Given the description of an element on the screen output the (x, y) to click on. 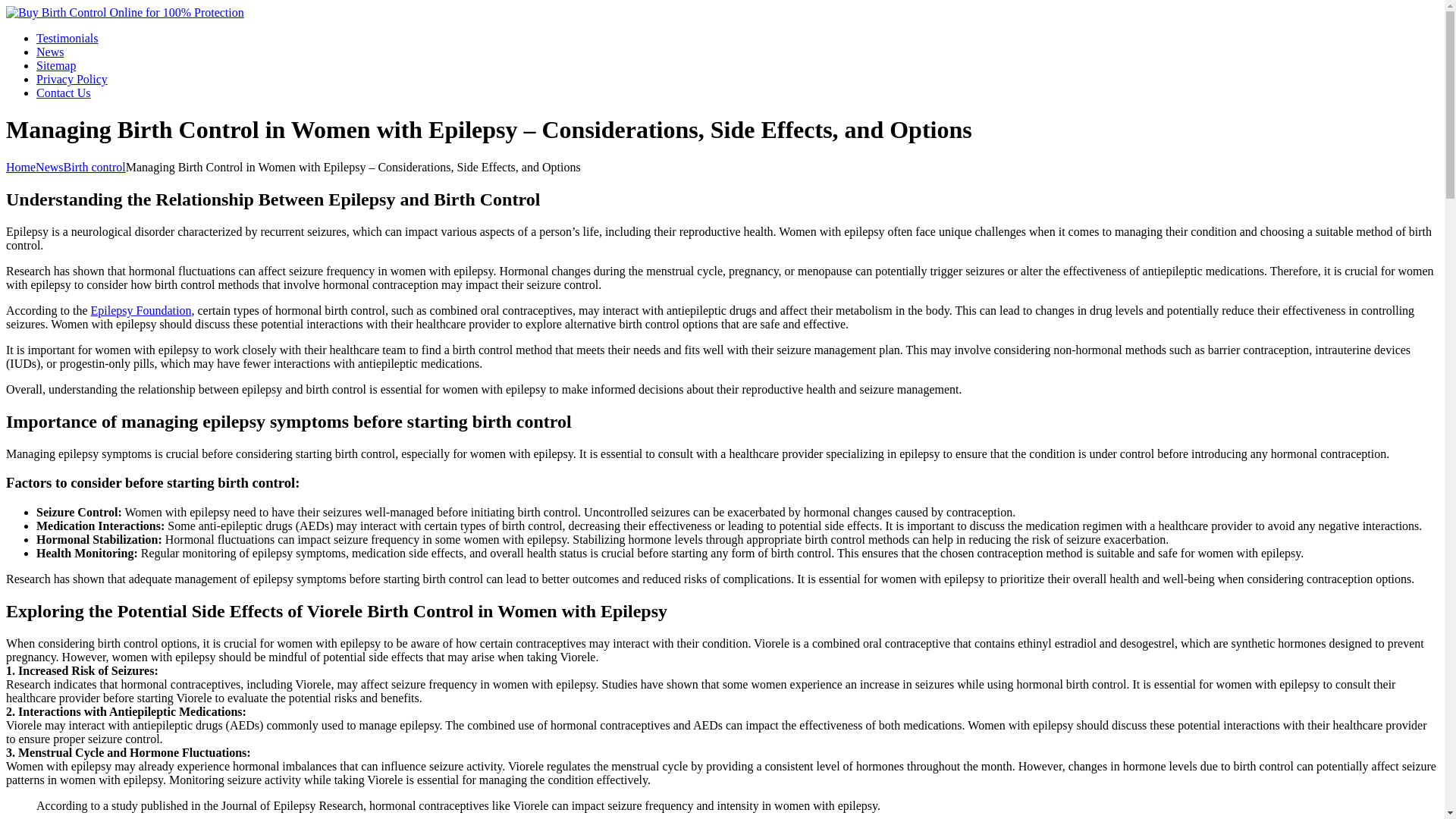
Contact Us (63, 92)
News (48, 166)
Testimonials (67, 38)
Sitemap (55, 65)
Go to News. (48, 166)
Epilepsy Foundation (141, 309)
Privacy Policy (71, 78)
Birth control (94, 166)
News (50, 51)
Home (19, 166)
